Given the description of an element on the screen output the (x, y) to click on. 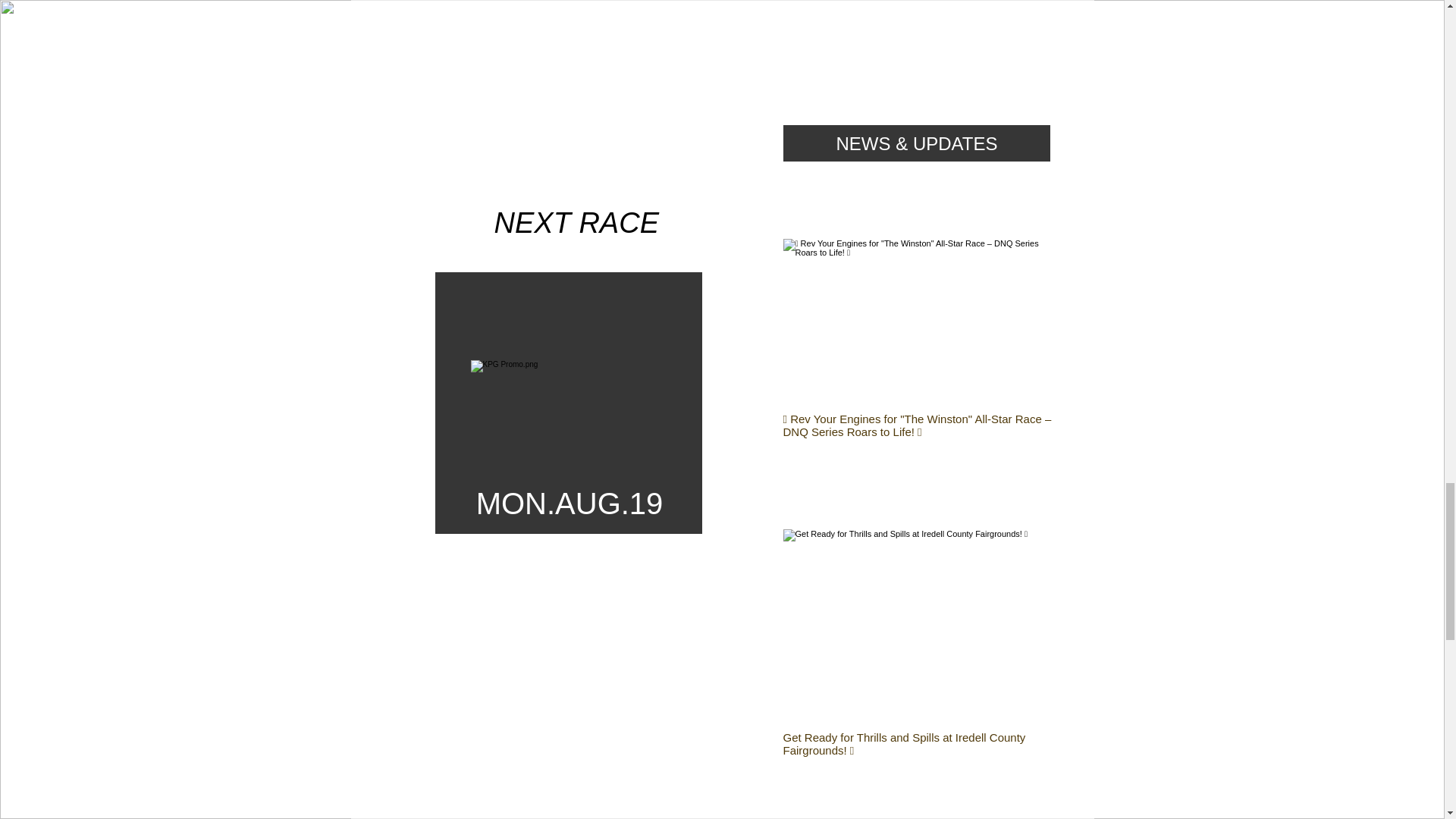
External YouTube (568, 88)
